Given the description of an element on the screen output the (x, y) to click on. 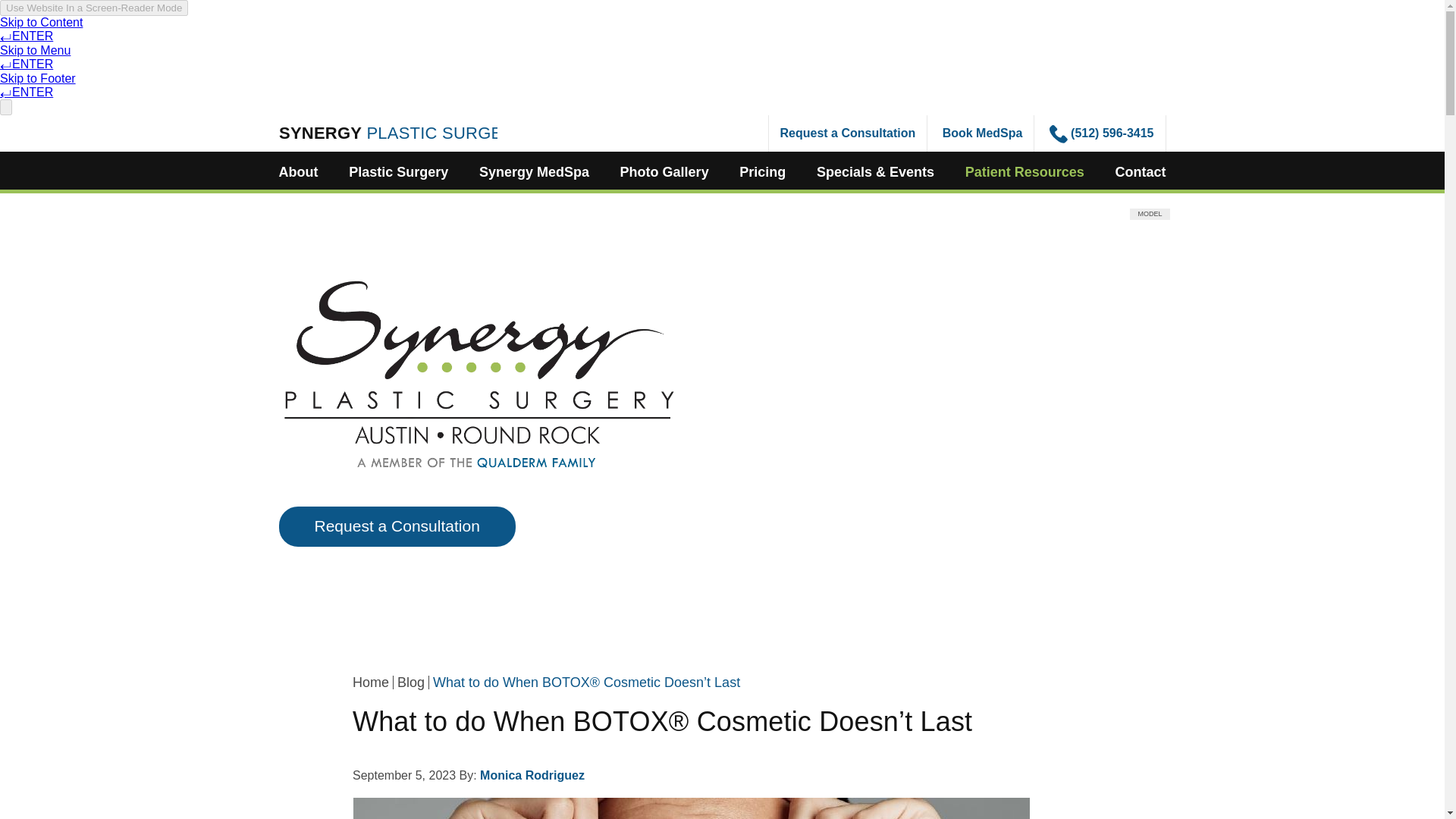
SYNERGY PLASTIC SURGERY (388, 131)
SYNERGY PLASTIC SURGERY (388, 137)
Plastic Surgery (398, 172)
About (298, 172)
Request a Consultation (847, 132)
Book MedSpa (982, 132)
View all posts by Monica Rodriguez (532, 775)
Go to Blog. (411, 682)
